Given the description of an element on the screen output the (x, y) to click on. 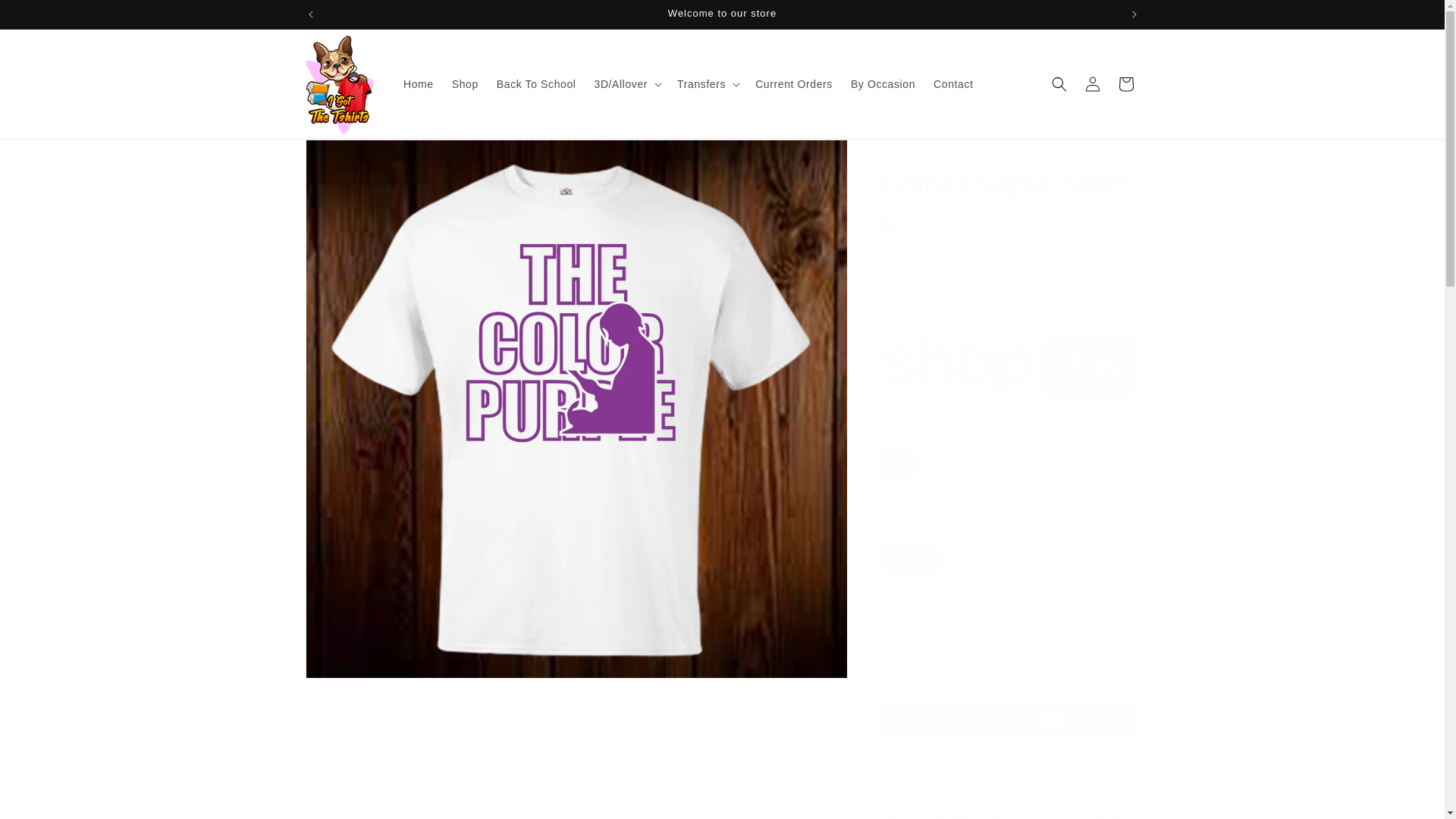
Cart (1124, 83)
Contact (952, 83)
By Occasion (882, 83)
Back To School (536, 83)
Shop (464, 83)
Log in (1091, 83)
Home (418, 83)
